Given the description of an element on the screen output the (x, y) to click on. 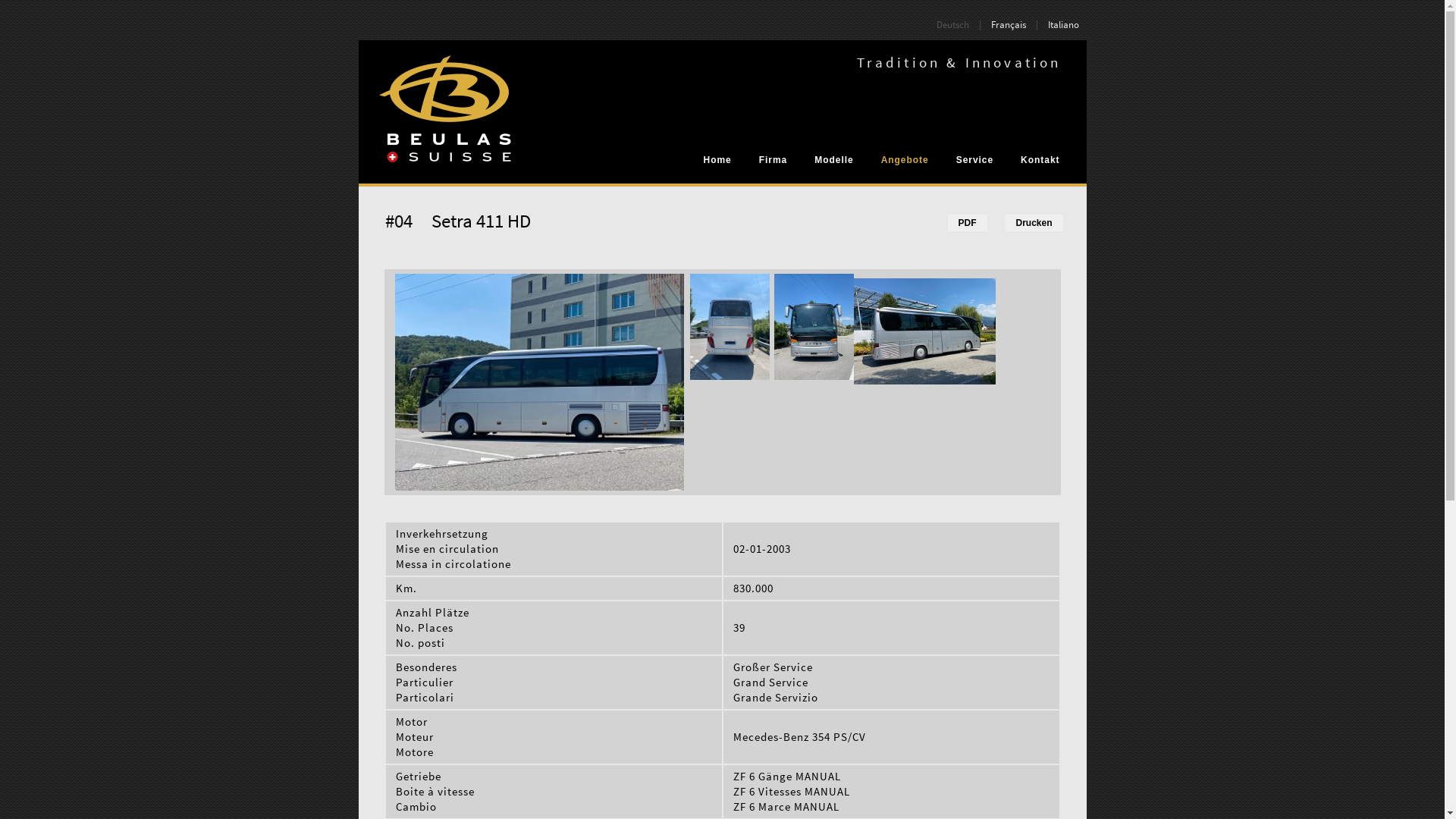
Drucken Element type: text (1033, 222)
PDF Element type: text (967, 222)
Italiano Element type: text (1063, 24)
Firma Element type: text (772, 159)
Kontakt Element type: text (1039, 159)
Modelle Element type: text (833, 159)
Angebote Element type: text (904, 159)
Home Element type: text (717, 159)
Service Element type: text (974, 159)
